Given the description of an element on the screen output the (x, y) to click on. 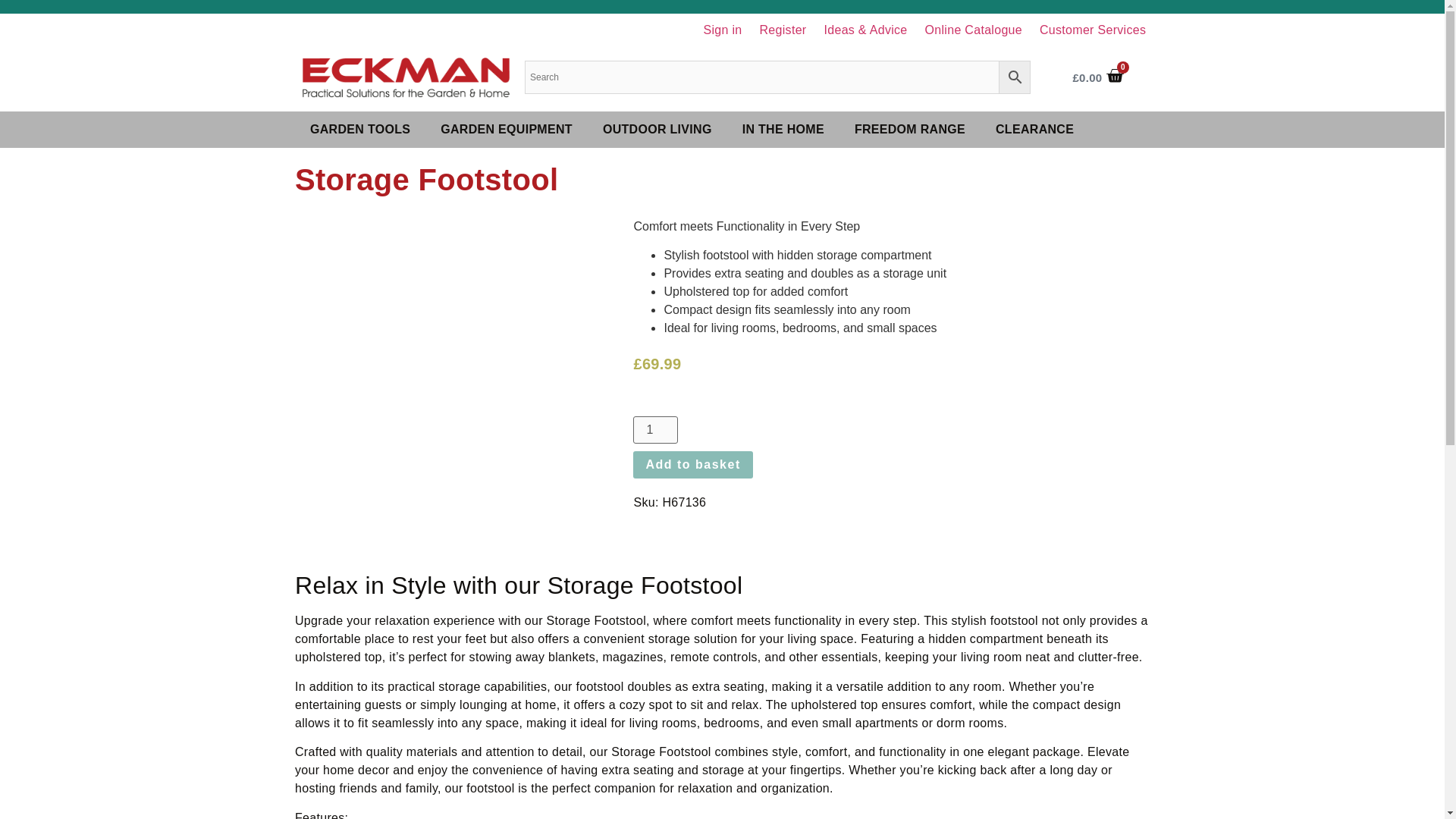
Online Catalogue (973, 29)
GARDEN TOOLS (360, 129)
Customer Services  (1094, 29)
IN THE HOME (783, 129)
OUTDOOR LIVING (657, 129)
Sign in (722, 29)
GARDEN EQUIPMENT (506, 129)
1 (655, 429)
Register (783, 29)
